Given the description of an element on the screen output the (x, y) to click on. 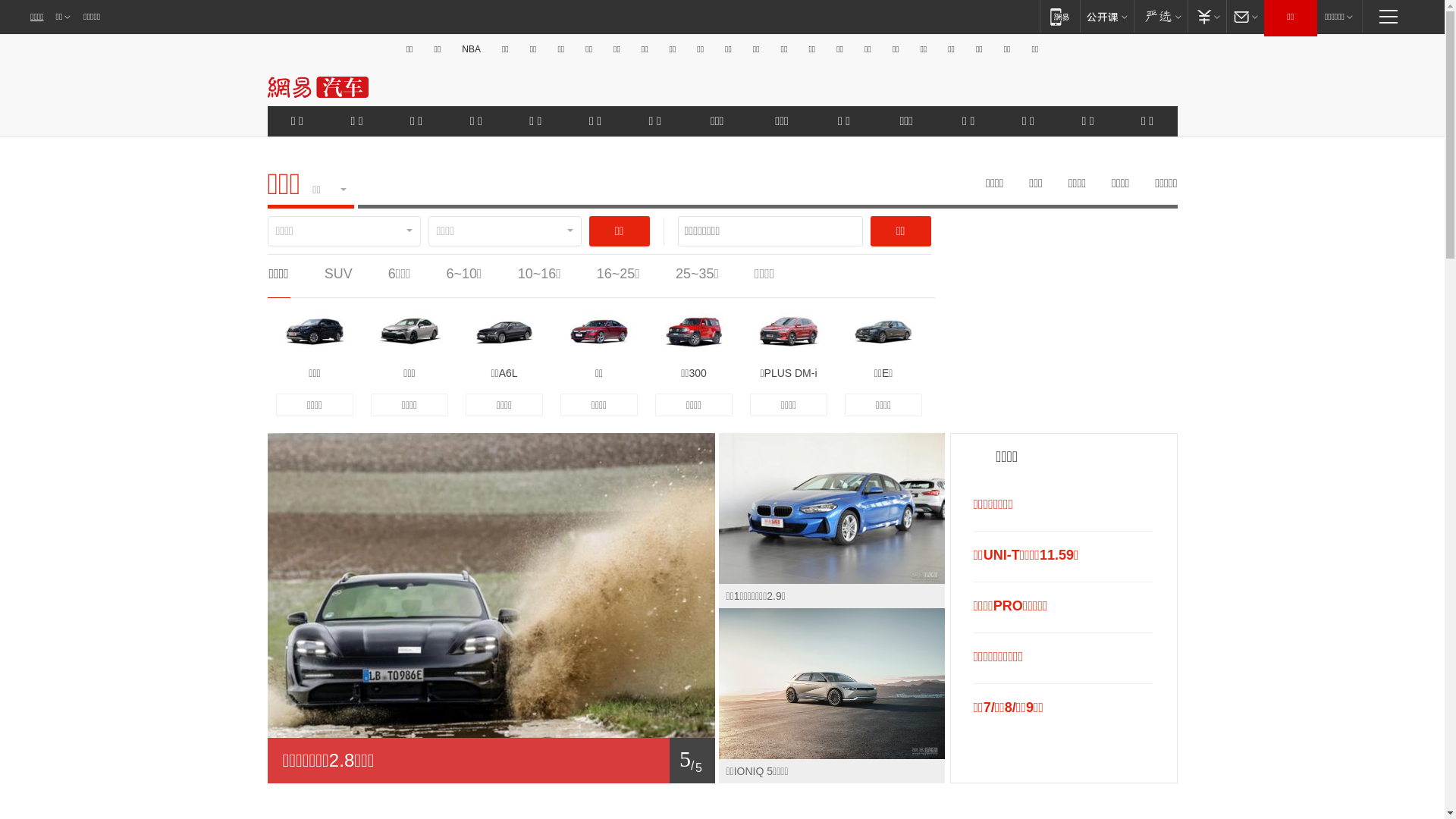
1/ 5 Element type: text (490, 760)
NBA Element type: text (471, 48)
SUV Element type: text (338, 273)
